Given the description of an element on the screen output the (x, y) to click on. 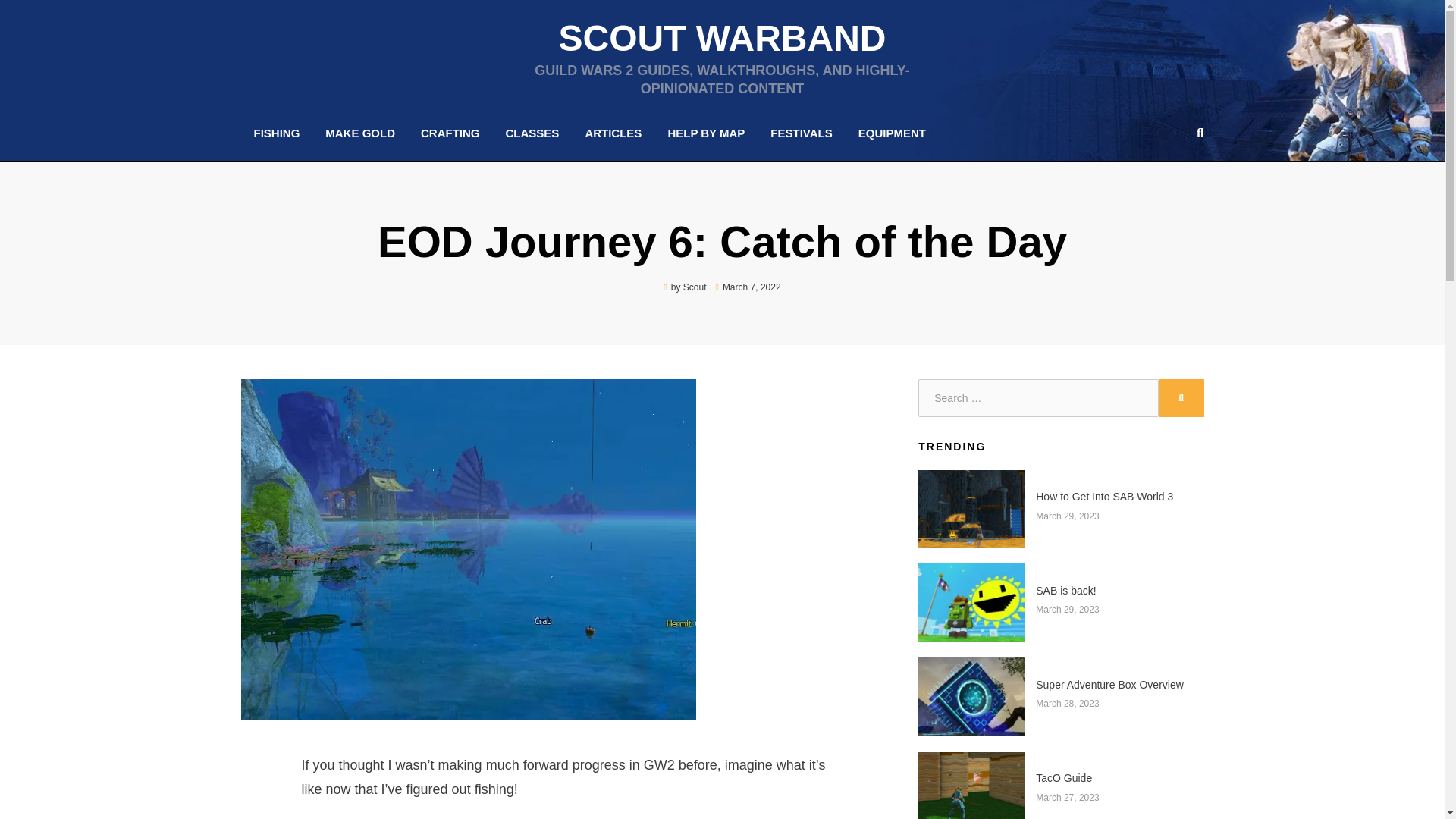
Scout Warband (721, 38)
FISHING (277, 132)
CLASSES (532, 132)
Search for: (1037, 397)
Search (1196, 132)
HELP BY MAP (705, 132)
MAKE GOLD (360, 132)
ARTICLES (612, 132)
SCOUT WARBAND (721, 38)
